Given the description of an element on the screen output the (x, y) to click on. 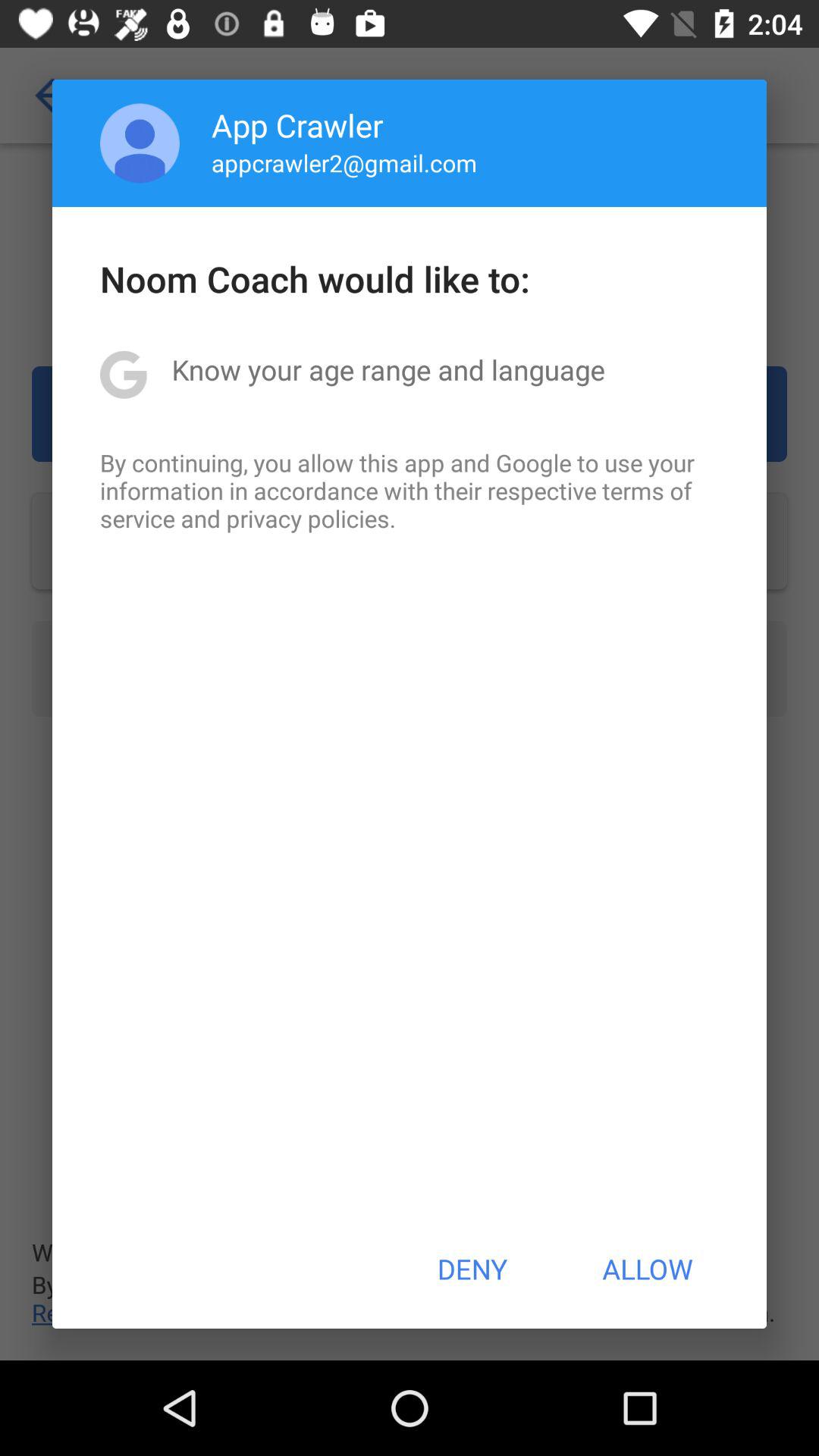
click deny icon (471, 1268)
